Given the description of an element on the screen output the (x, y) to click on. 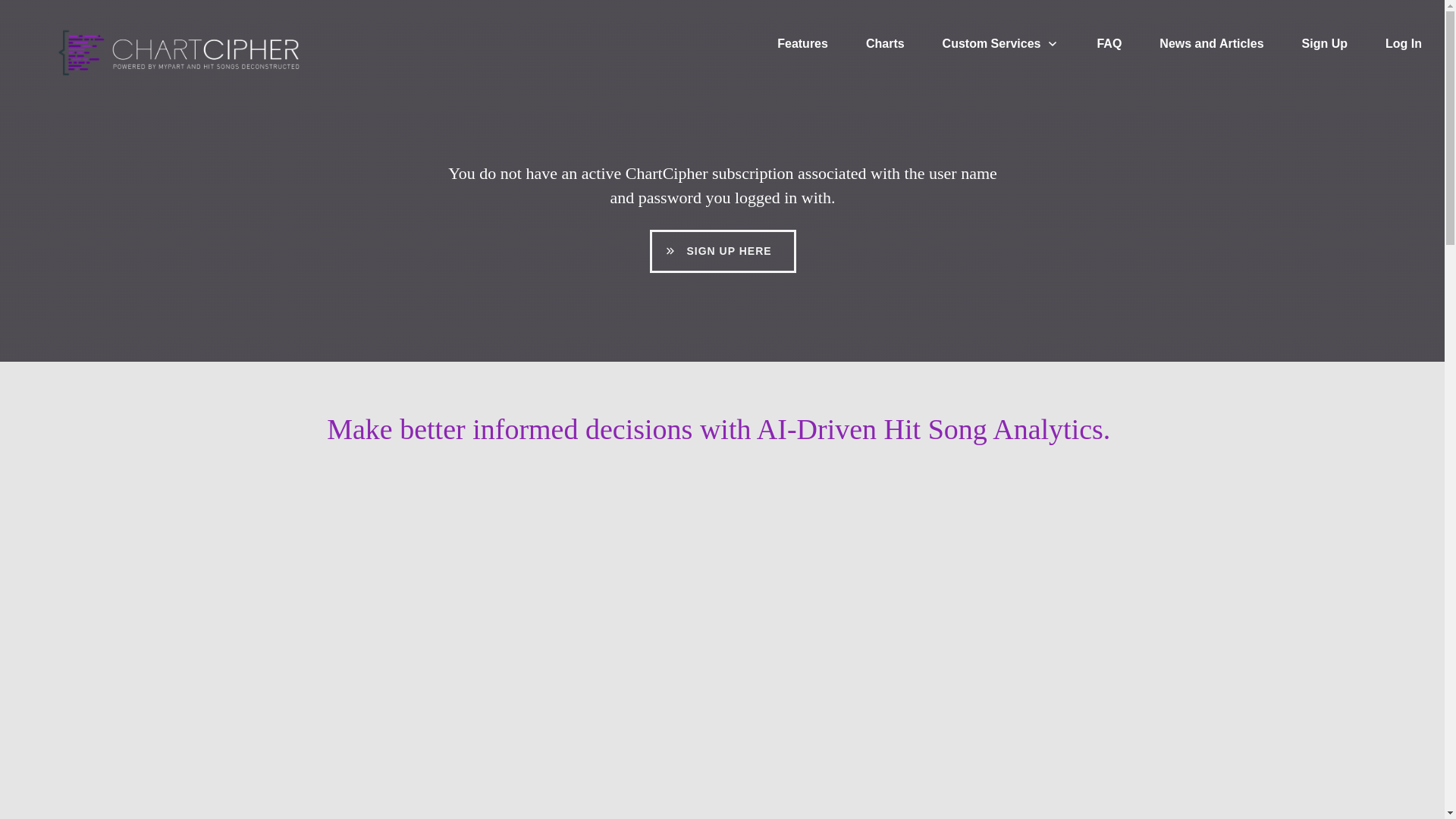
SIGN UP HERE  (721, 251)
Sign Up (1324, 43)
Charts (885, 43)
Features (802, 43)
Log In (1404, 43)
Custom Services (1000, 43)
FAQ (1108, 43)
News and Articles (1210, 43)
